Given the description of an element on the screen output the (x, y) to click on. 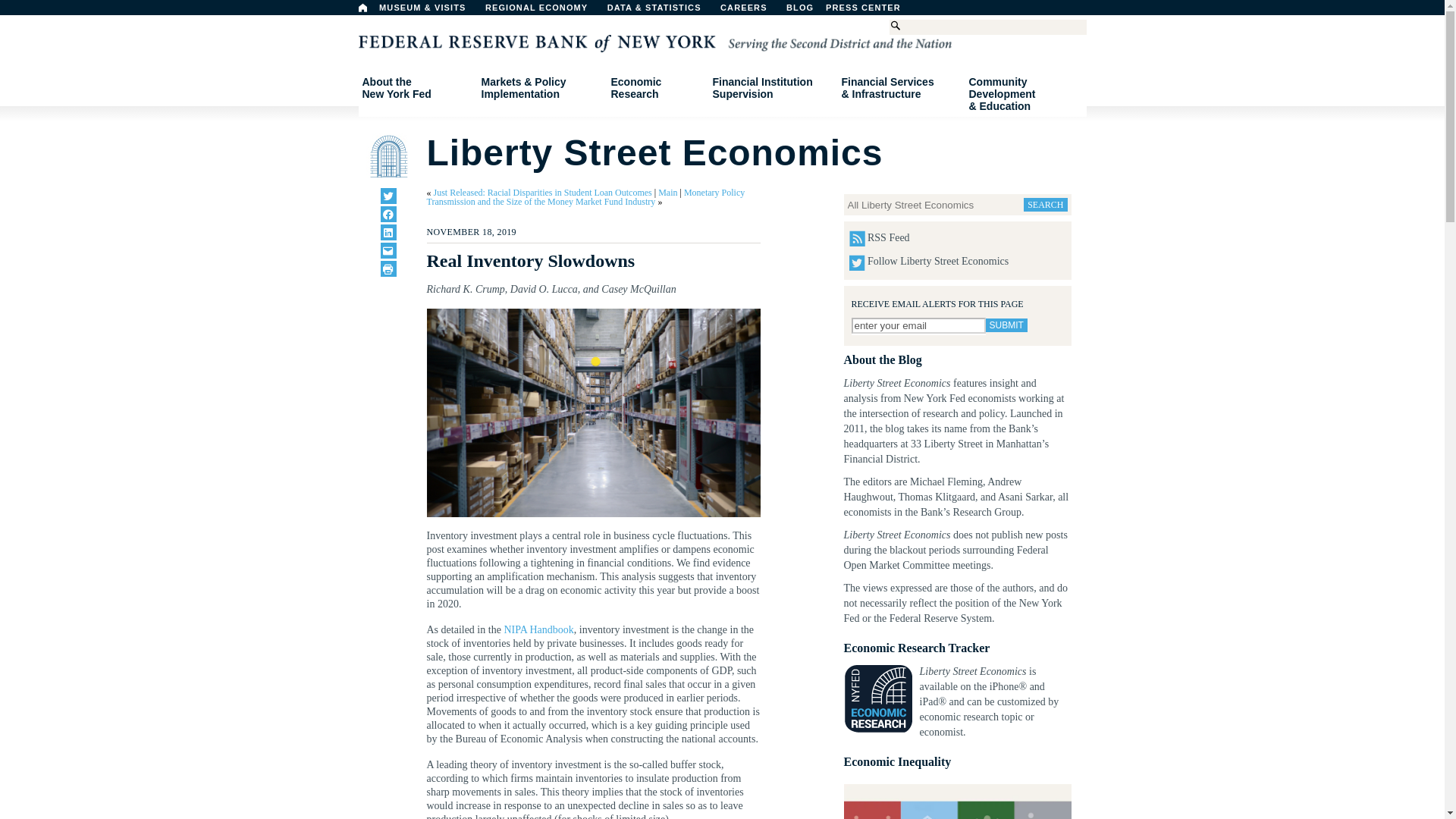
Real Inventory Slowdowns (593, 412)
Submit (1006, 325)
CAREERS (751, 11)
Click to email a link to a friend (415, 87)
Click to share on Twitter (388, 250)
Click to share on Facebook (388, 195)
Click to print (388, 213)
enter your email (388, 268)
REGIONAL ECONOMY (917, 325)
Home (543, 11)
PRESS CENTER (362, 8)
BLOG (870, 11)
Click to share on LinkedIn (839, 11)
